Given the description of an element on the screen output the (x, y) to click on. 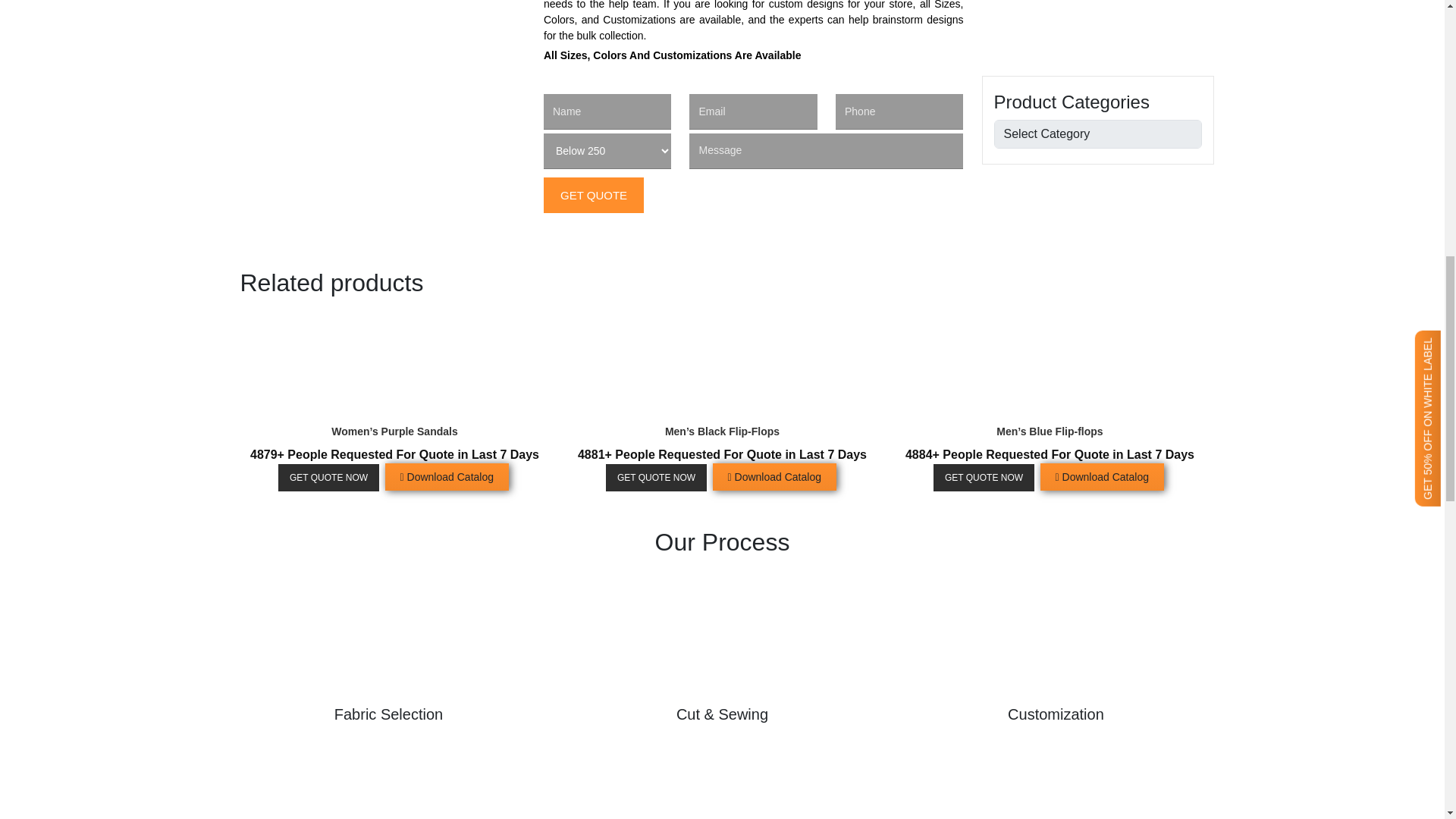
Get Quote (593, 194)
